Given the description of an element on the screen output the (x, y) to click on. 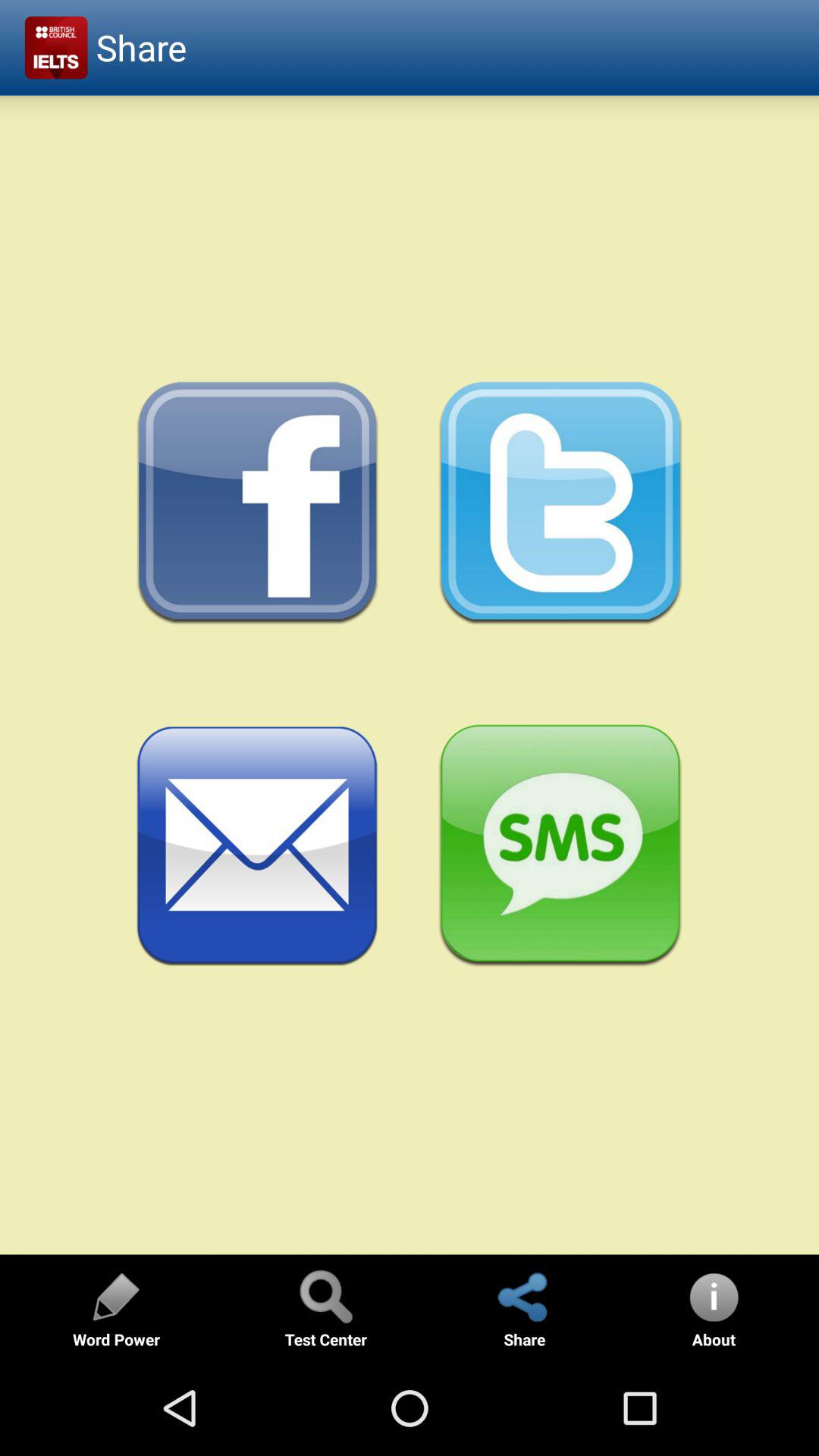
share on facebook (257, 503)
